Given the description of an element on the screen output the (x, y) to click on. 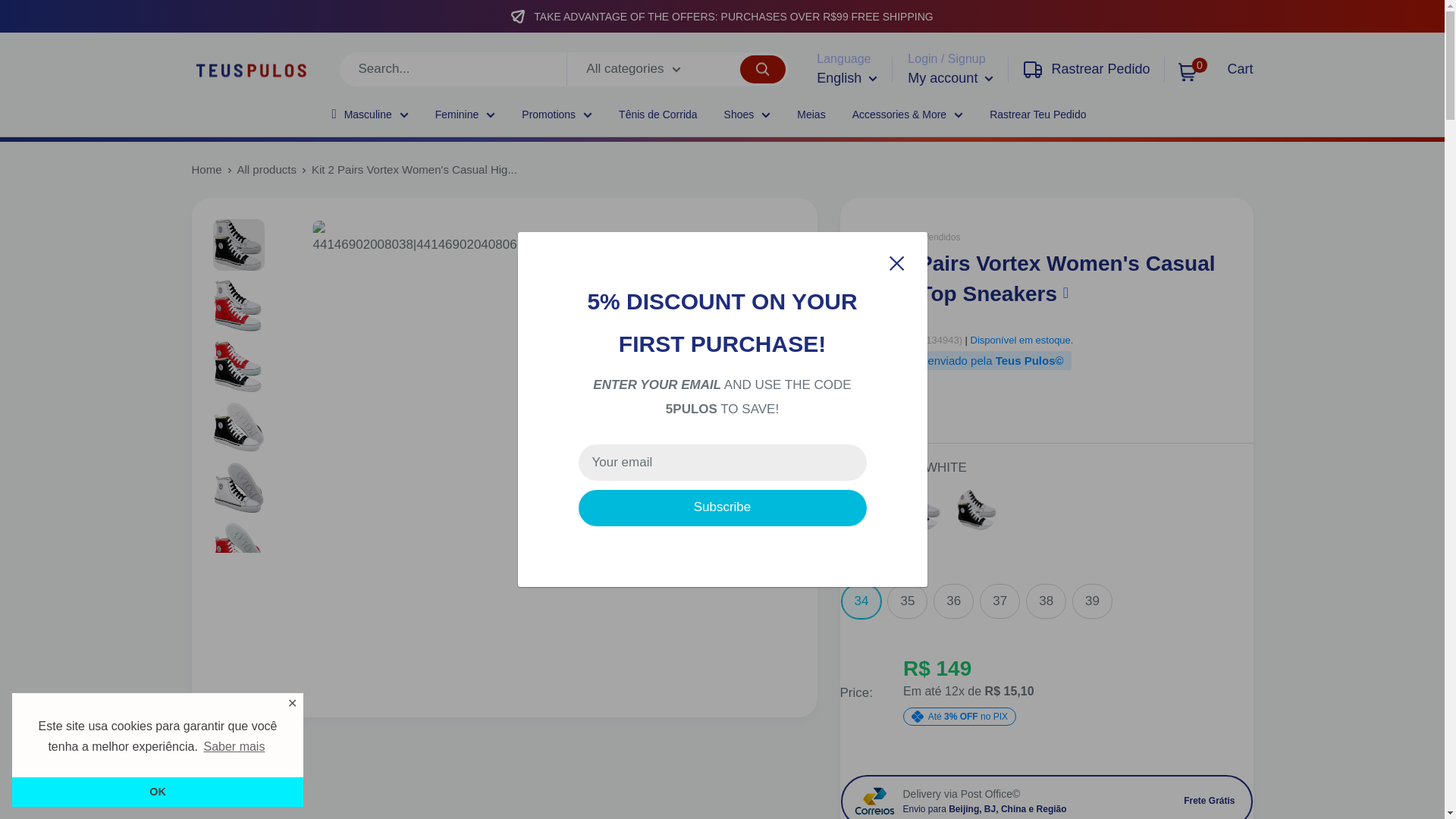
34 (861, 601)
39 (1091, 601)
RED WHITE (920, 509)
Saber mais (233, 746)
WHITE RED (976, 509)
35 (906, 601)
BLACK WHITE (864, 509)
38 (1045, 601)
OK (156, 791)
Subscribe (722, 507)
36 (953, 601)
37 (999, 601)
